Given the description of an element on the screen output the (x, y) to click on. 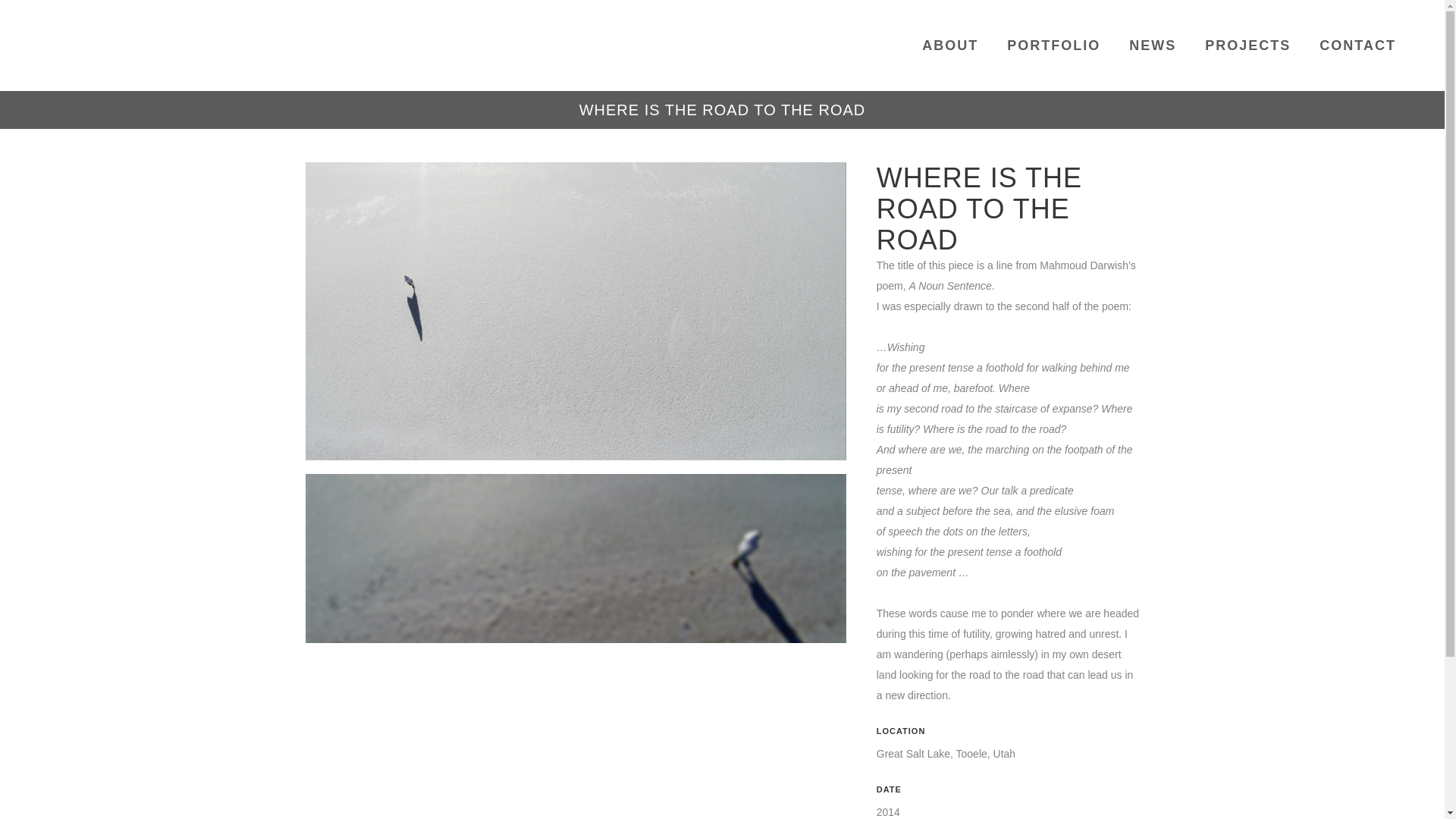
PORTFOLIO (1053, 45)
CONTACT (1357, 45)
PROJECTS (1247, 45)
ABOUT (949, 45)
